Given the description of an element on the screen output the (x, y) to click on. 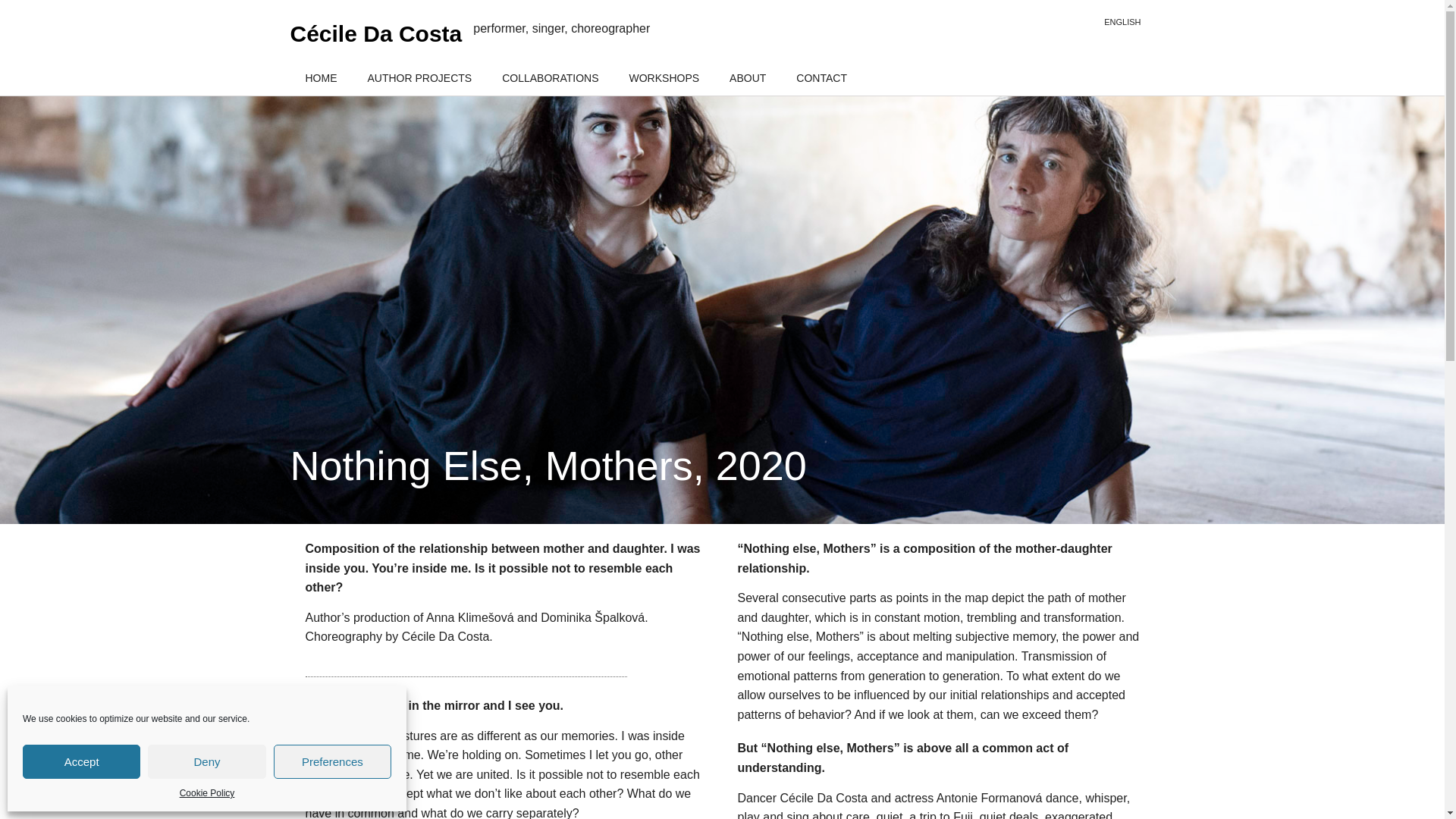
HOME (320, 77)
CONTACT (820, 77)
Deny (206, 761)
Accept (81, 761)
Preferences (332, 761)
AUTHOR PROJECTS (419, 77)
WORKSHOPS (664, 77)
Cookie Policy (206, 793)
ENGLISH (1122, 22)
ABOUT (747, 77)
